Given the description of an element on the screen output the (x, y) to click on. 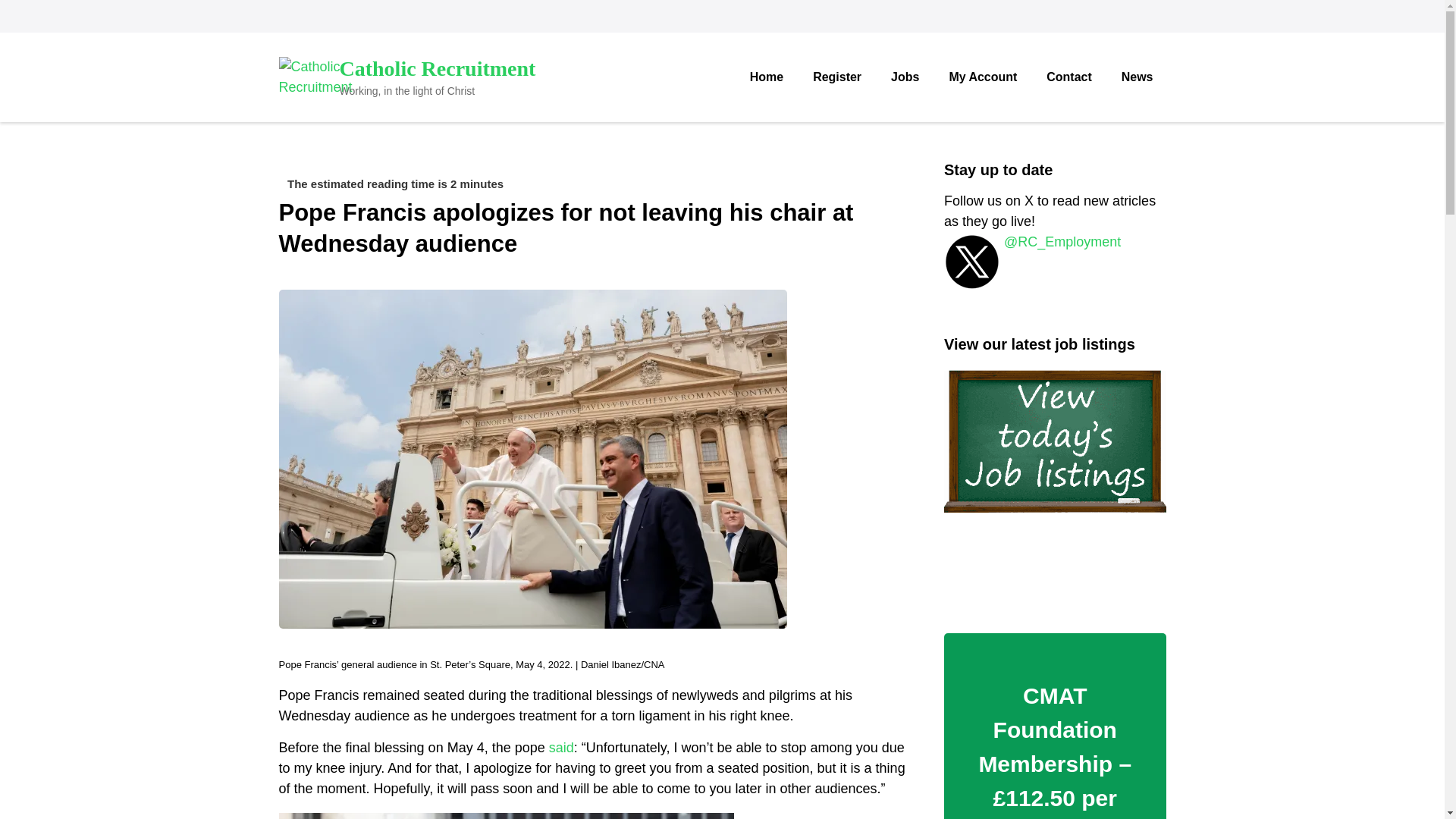
Register (837, 77)
My Account (982, 77)
said (560, 747)
Catholic Recruitment (437, 68)
Home (766, 77)
Contact (1068, 77)
News (1137, 77)
Jobs (904, 77)
